Given the description of an element on the screen output the (x, y) to click on. 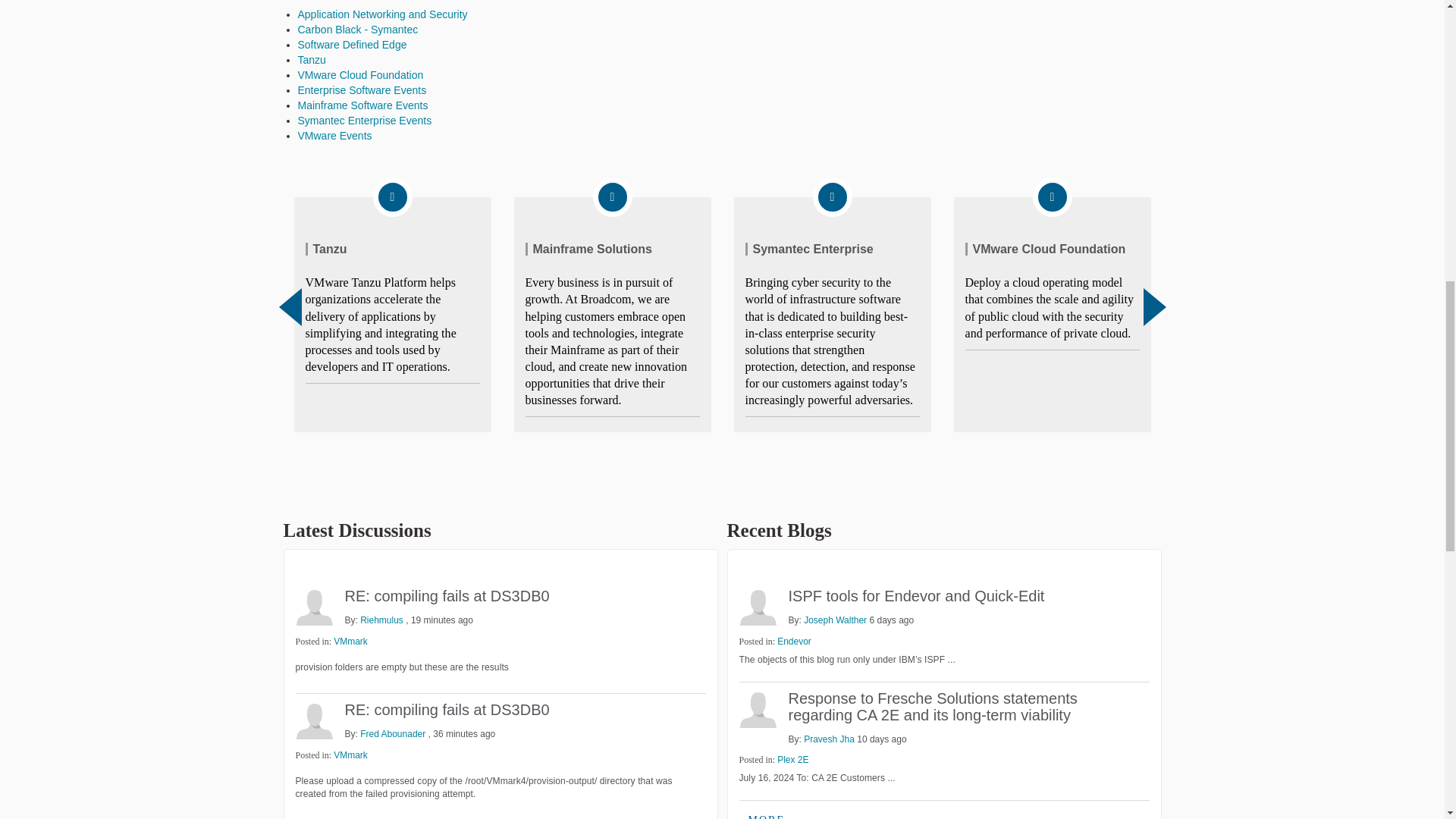
Joseph Walther (757, 606)
Fred Abounader (314, 720)
VMmark (350, 755)
RE: compiling fails at DS3DB0 (445, 596)
ISPF tools for Endevor and Quick-Edit (917, 596)
Riehmulus (314, 606)
View All Blog Posts (765, 813)
VMmark (350, 641)
Pravesh Jha (757, 709)
RE: compiling fails at DS3DB0 (445, 709)
